Given the description of an element on the screen output the (x, y) to click on. 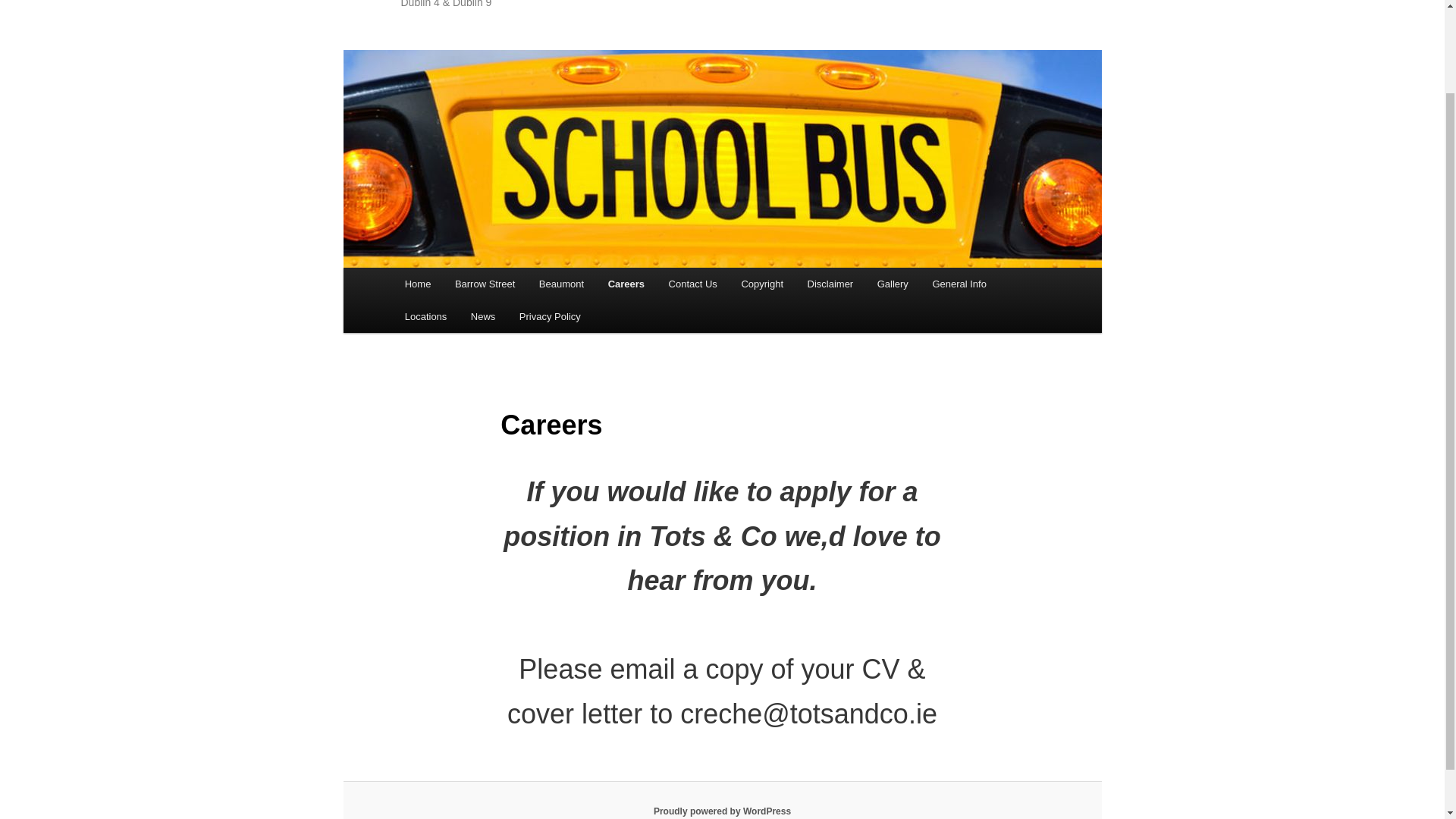
Copyright (761, 283)
Beaumont (561, 283)
Semantic Personal Publishing Platform (721, 810)
Privacy Policy (549, 316)
Disclaimer (829, 283)
Gallery (892, 283)
Careers (625, 283)
Locations (425, 316)
News (482, 316)
General Info (959, 283)
